Given the description of an element on the screen output the (x, y) to click on. 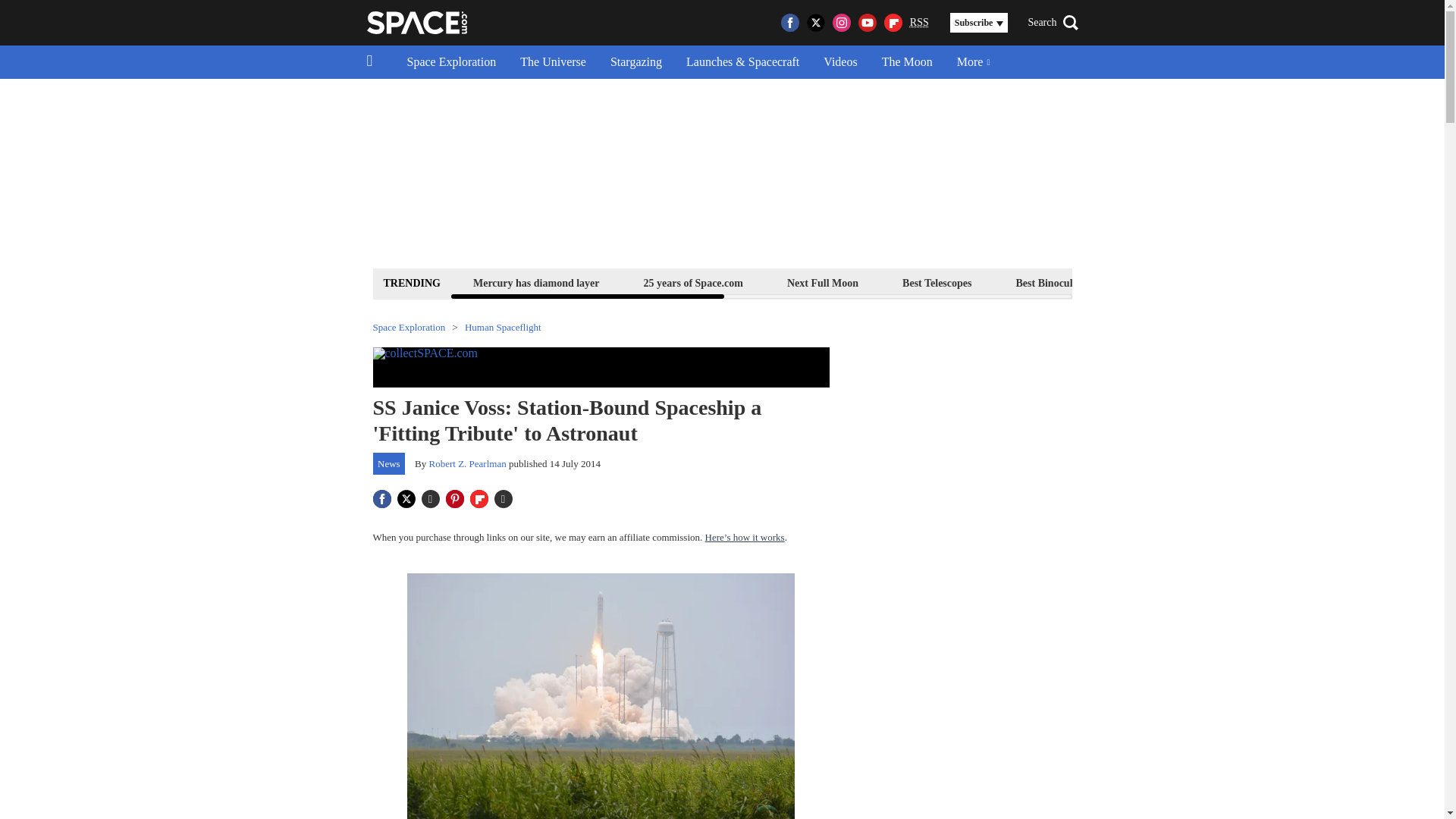
The Moon (906, 61)
The Universe (553, 61)
Best Telescopes (936, 282)
Space Exploration (451, 61)
Stargazing (636, 61)
Best Binoculars (1051, 282)
Best Star Projectors (1176, 282)
RSS (919, 22)
25 years of Space.com (693, 282)
Mercury has diamond layer (536, 282)
Videos (839, 61)
Space Calendar (1301, 282)
Next Full Moon (822, 282)
Really Simple Syndication (919, 21)
